Given the description of an element on the screen output the (x, y) to click on. 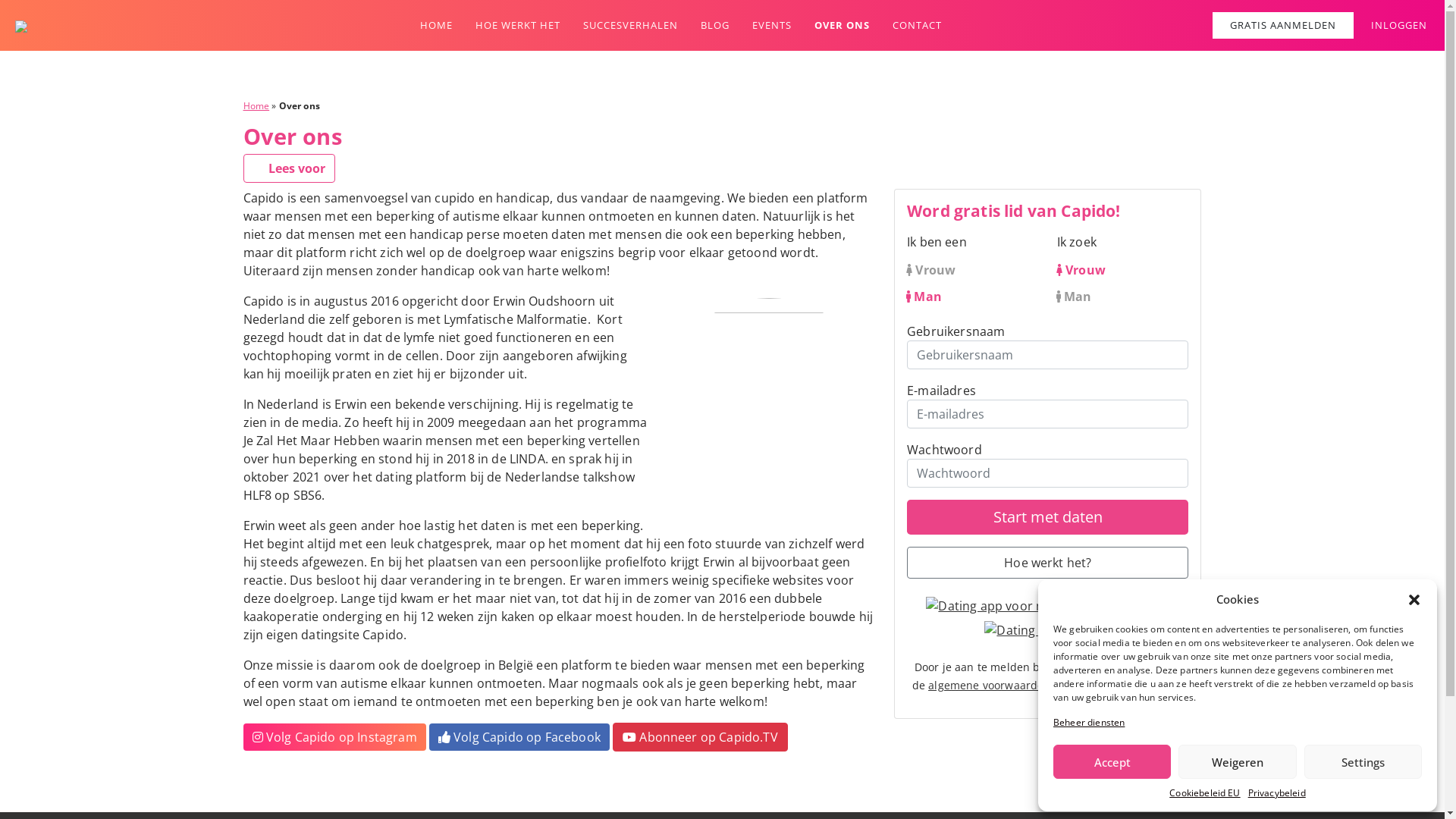
Accept Element type: text (1111, 761)
HOE WERKT HET Element type: text (516, 25)
Start met daten Element type: text (1047, 516)
Lees voor Element type: text (288, 167)
Settings Element type: text (1362, 761)
Cookiebeleid EU Element type: text (1204, 793)
BLOG Element type: text (714, 25)
algemene voorwaarden Element type: text (989, 684)
Hoe werkt het? Element type: text (1047, 562)
Home Element type: text (255, 105)
cookie- en privacy policy Element type: text (1120, 684)
Volg Capido op Instagram Element type: text (333, 736)
HOME Element type: text (436, 25)
Volg Capido op Facebook Element type: text (519, 736)
Weigeren Element type: text (1236, 761)
OVER ONS Element type: text (841, 25)
Privacybeleid Element type: text (1276, 793)
GRATIS AANMELDEN Element type: text (1282, 25)
Abonneer op Capido.TV Element type: text (699, 736)
Beheer diensten Element type: text (1088, 722)
INLOGGEN Element type: text (1399, 25)
CONTACT Element type: text (916, 25)
SUCCESVERHALEN Element type: text (629, 25)
EVENTS Element type: text (771, 25)
